Given the description of an element on the screen output the (x, y) to click on. 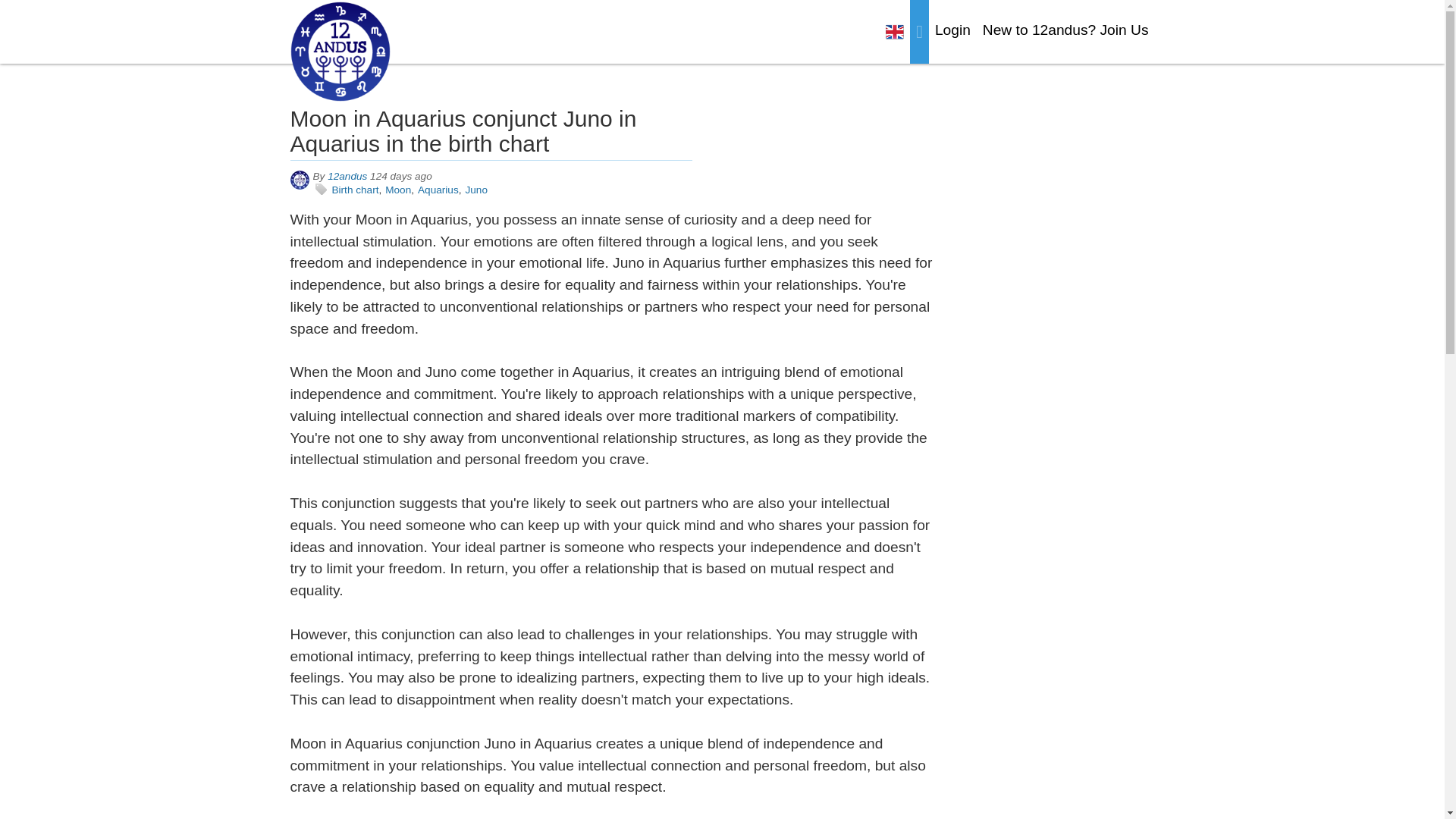
New to 12andus? Join Us (1065, 30)
English (894, 31)
